Given the description of an element on the screen output the (x, y) to click on. 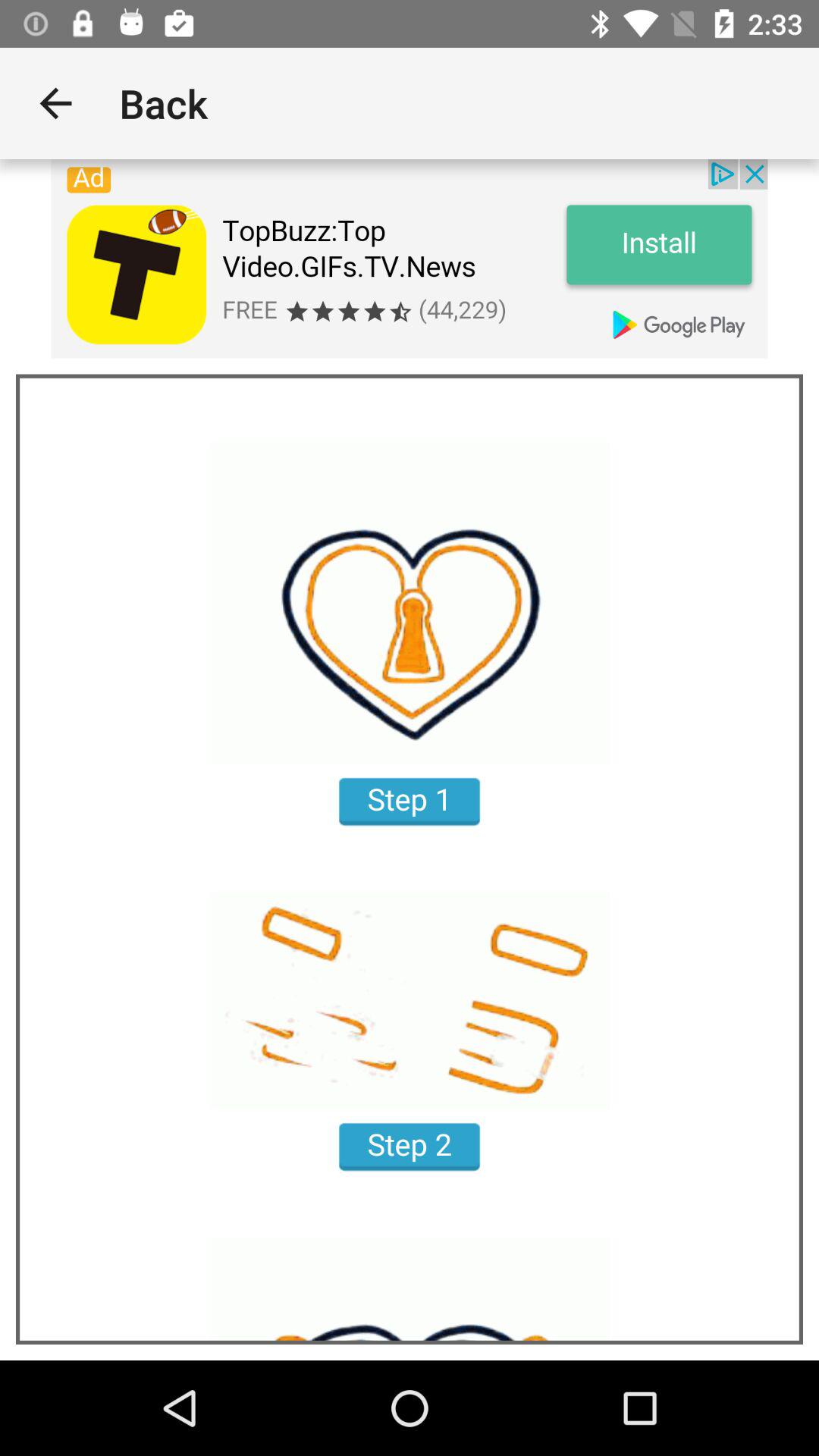
app advertisement install link (409, 258)
